Given the description of an element on the screen output the (x, y) to click on. 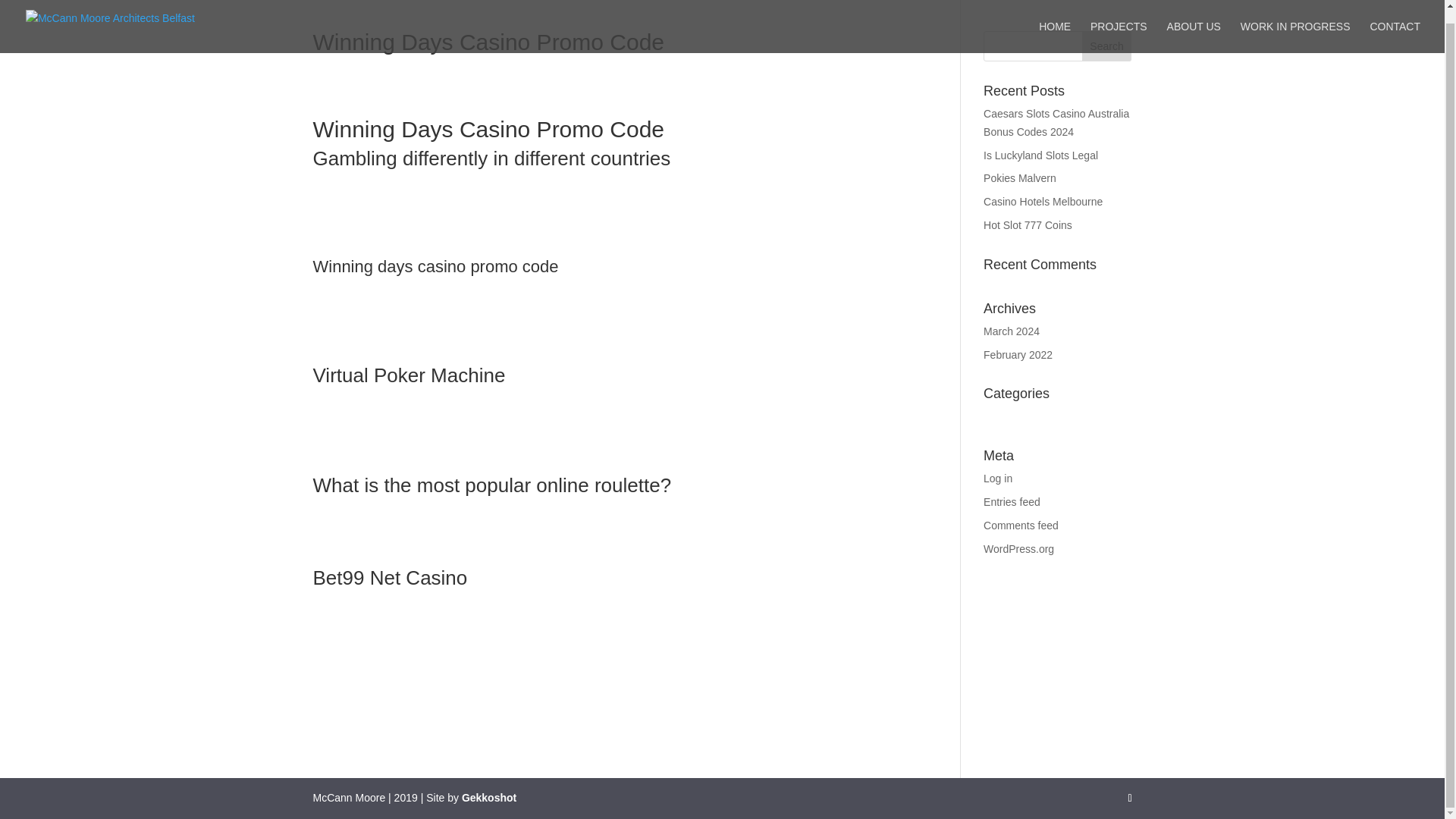
March 2024 (1011, 331)
ABOUT US (1194, 24)
Log in (997, 478)
Is Luckyland Slots Legal (1040, 155)
Caesars Slots Casino Australia Bonus Codes 2024 (1056, 122)
PROJECTS (1118, 24)
WordPress.org (1019, 548)
Comments feed (1021, 525)
HOME (1054, 24)
Search (1106, 46)
Pokies Malvern (1020, 177)
CONTACT (1395, 24)
WORK IN PROGRESS (1295, 24)
February 2022 (1018, 354)
Gekkoshot (488, 797)
